Given the description of an element on the screen output the (x, y) to click on. 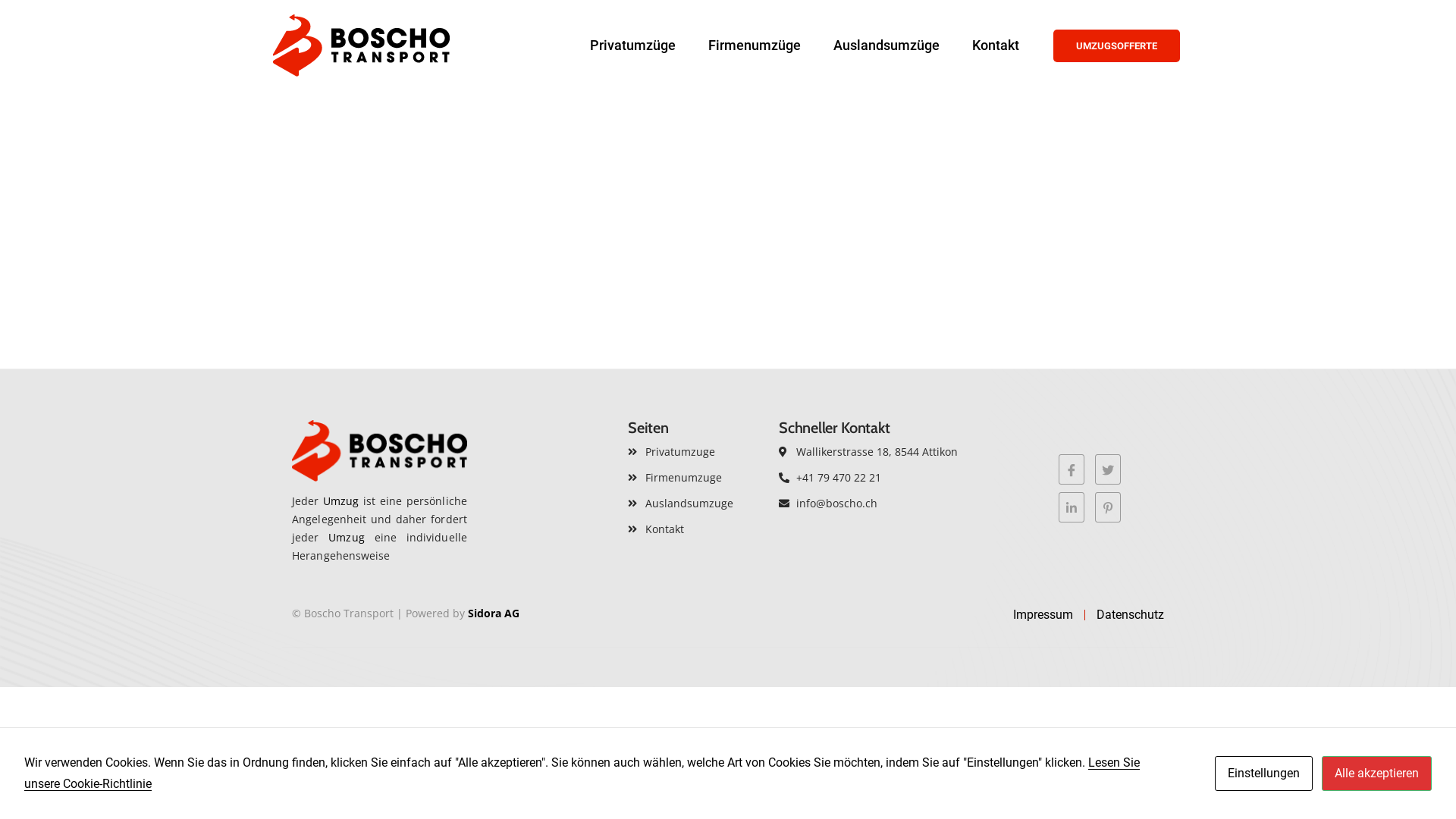
drejt-logo-full-color-rgb-415px@72ppi - Boscho Transport Element type: hover (379, 450)
Privatumzuge Element type: text (695, 451)
Impressum Element type: text (1043, 614)
Einstellungen Element type: text (1263, 773)
Kontakt Element type: text (995, 45)
drejt-logo-full-color-rgb-415px@72ppi - Boscho Transport Element type: hover (361, 45)
Datenschutz Element type: text (1130, 614)
Umzug Element type: text (341, 500)
Kontakt Element type: text (695, 528)
Umzug Element type: text (346, 537)
Sidora AG Element type: text (493, 612)
Auslandsumzuge Element type: text (695, 503)
Firmenumzuge Element type: text (695, 477)
+41 79 470 22 21 Element type: text (880, 477)
Alle akzeptieren Element type: text (1376, 773)
UMZUGSOFFERTE Element type: text (1116, 44)
info@boscho.ch Element type: text (880, 503)
Lesen Sie unsere Cookie-Richtlinie Element type: text (581, 772)
